Given the description of an element on the screen output the (x, y) to click on. 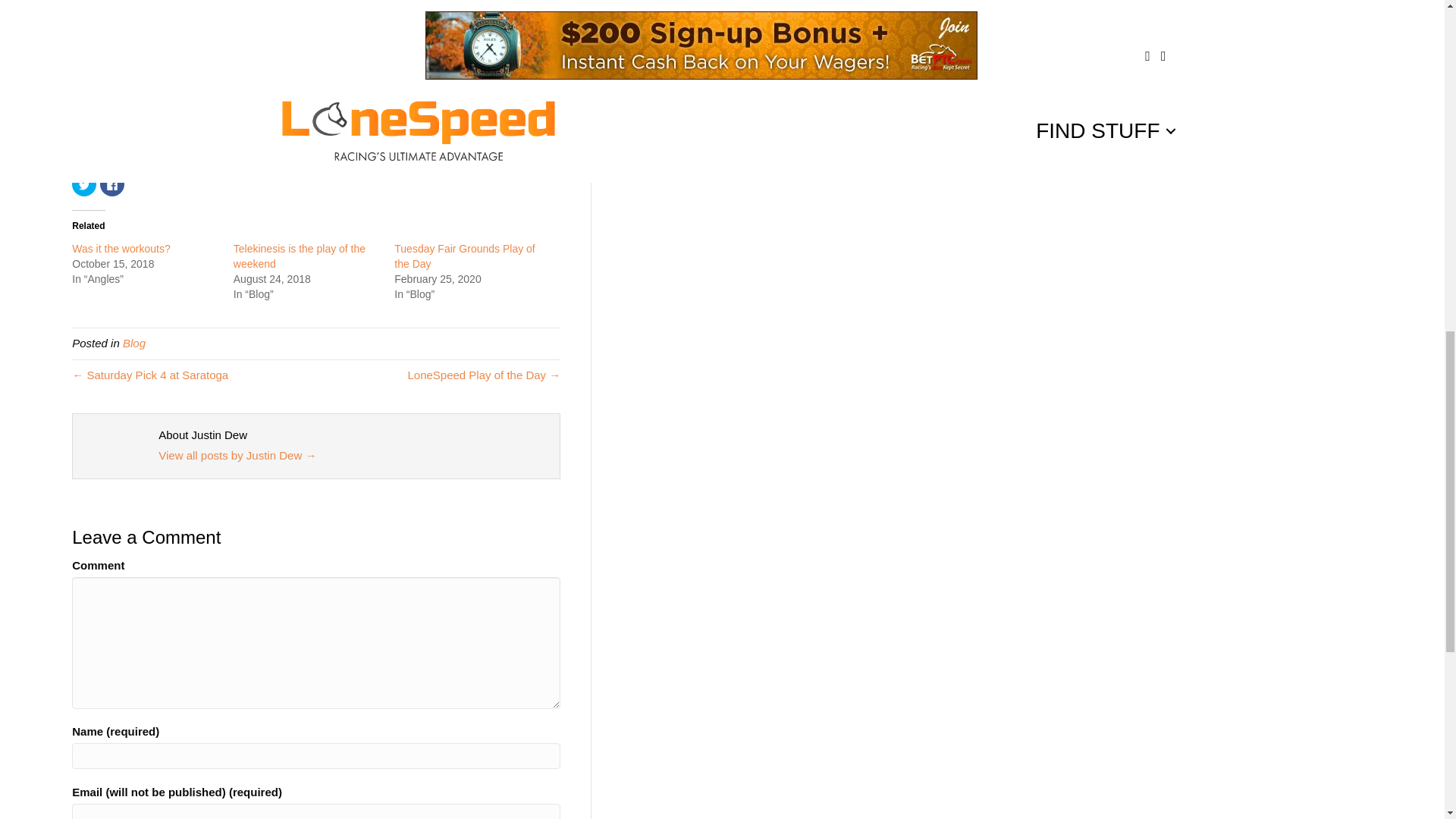
Tuesday Fair Grounds Play of the Day (464, 256)
Telekinesis is the play of the weekend (298, 256)
Was it the workouts? (120, 248)
Blog (133, 342)
Click to share on Twitter (83, 183)
Click to share on Facebook (111, 183)
